Given the description of an element on the screen output the (x, y) to click on. 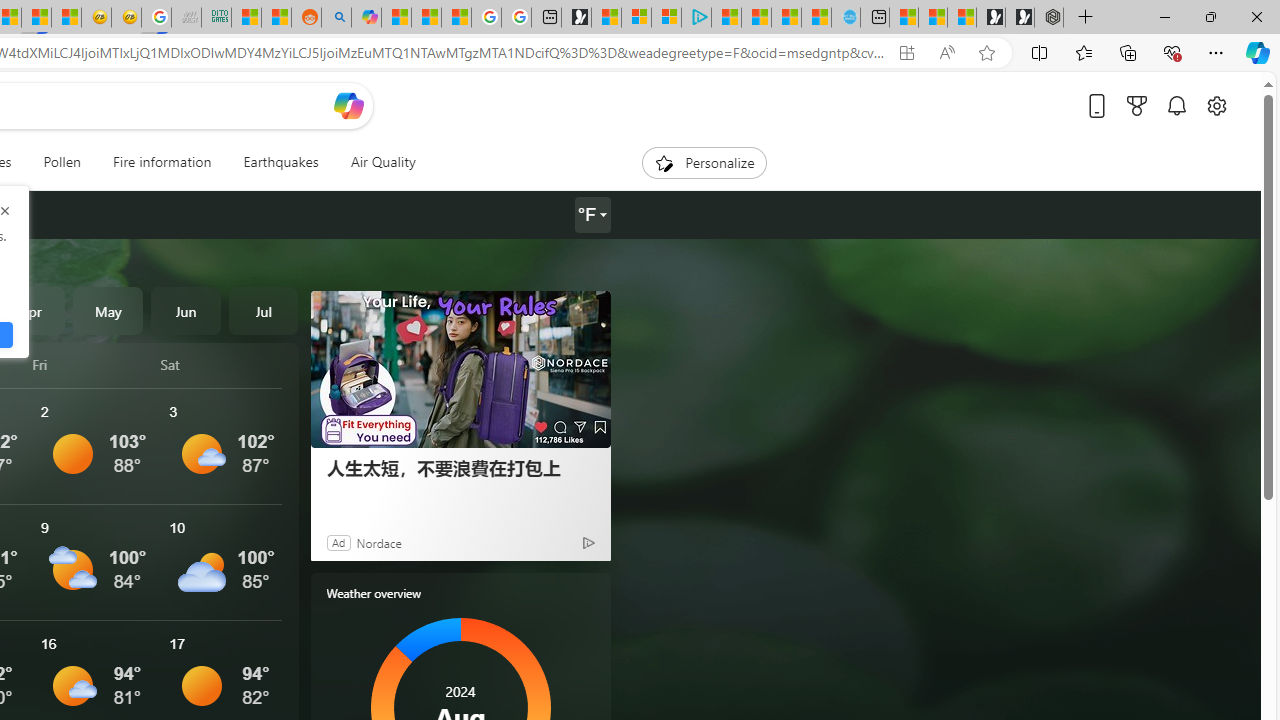
Fire information (162, 162)
Microsoft Copilot in Bing (366, 17)
